Given the description of an element on the screen output the (x, y) to click on. 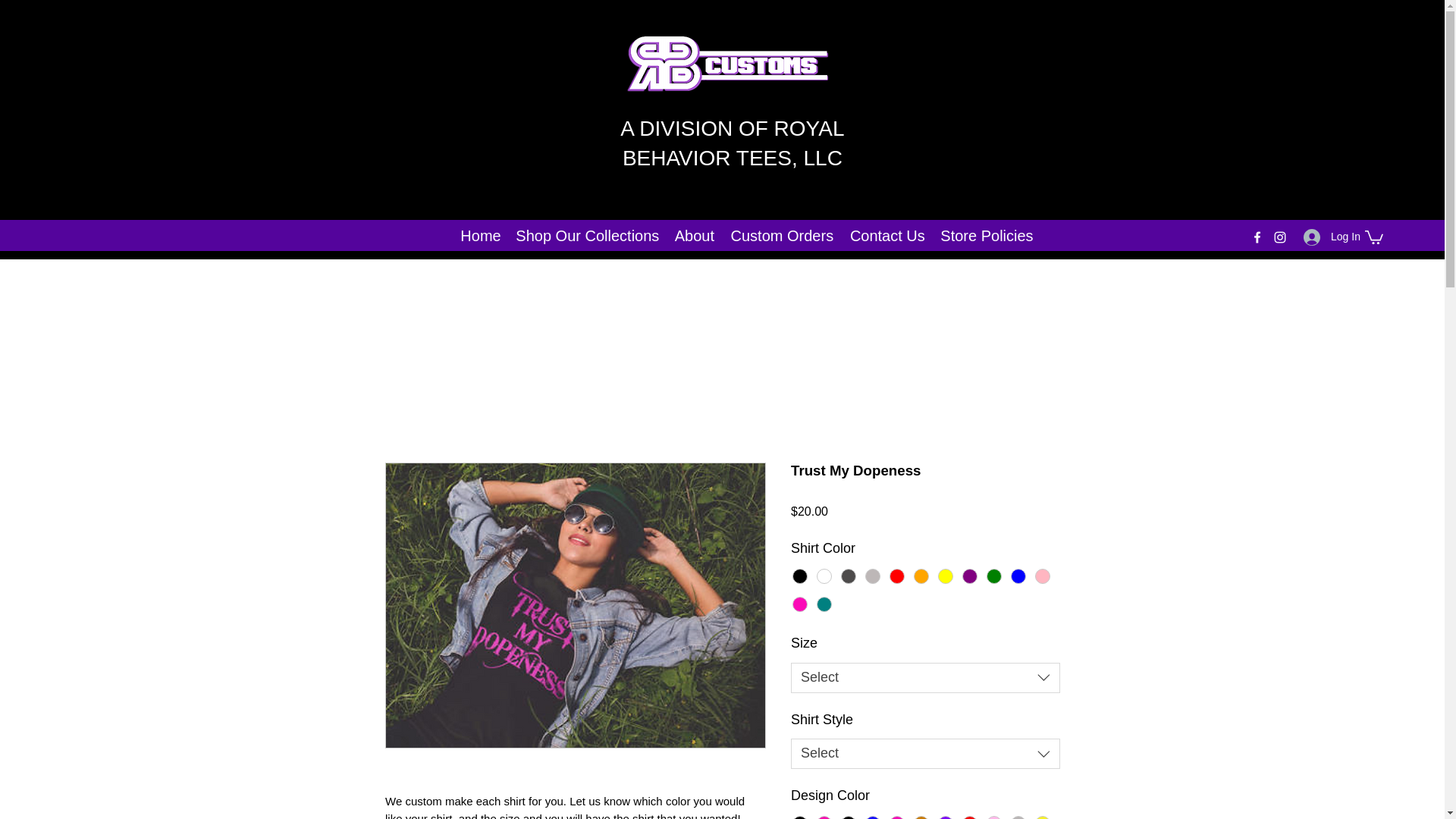
About (694, 236)
Select (924, 753)
Log In (1326, 236)
Contact Us (887, 236)
Custom Orders (781, 236)
Store Policies (986, 236)
Select (924, 677)
Home (480, 236)
A DIVISION OF ROYAL BEHAVIOR TEES, LLC (732, 143)
Shop Our Collections (587, 236)
